Given the description of an element on the screen output the (x, y) to click on. 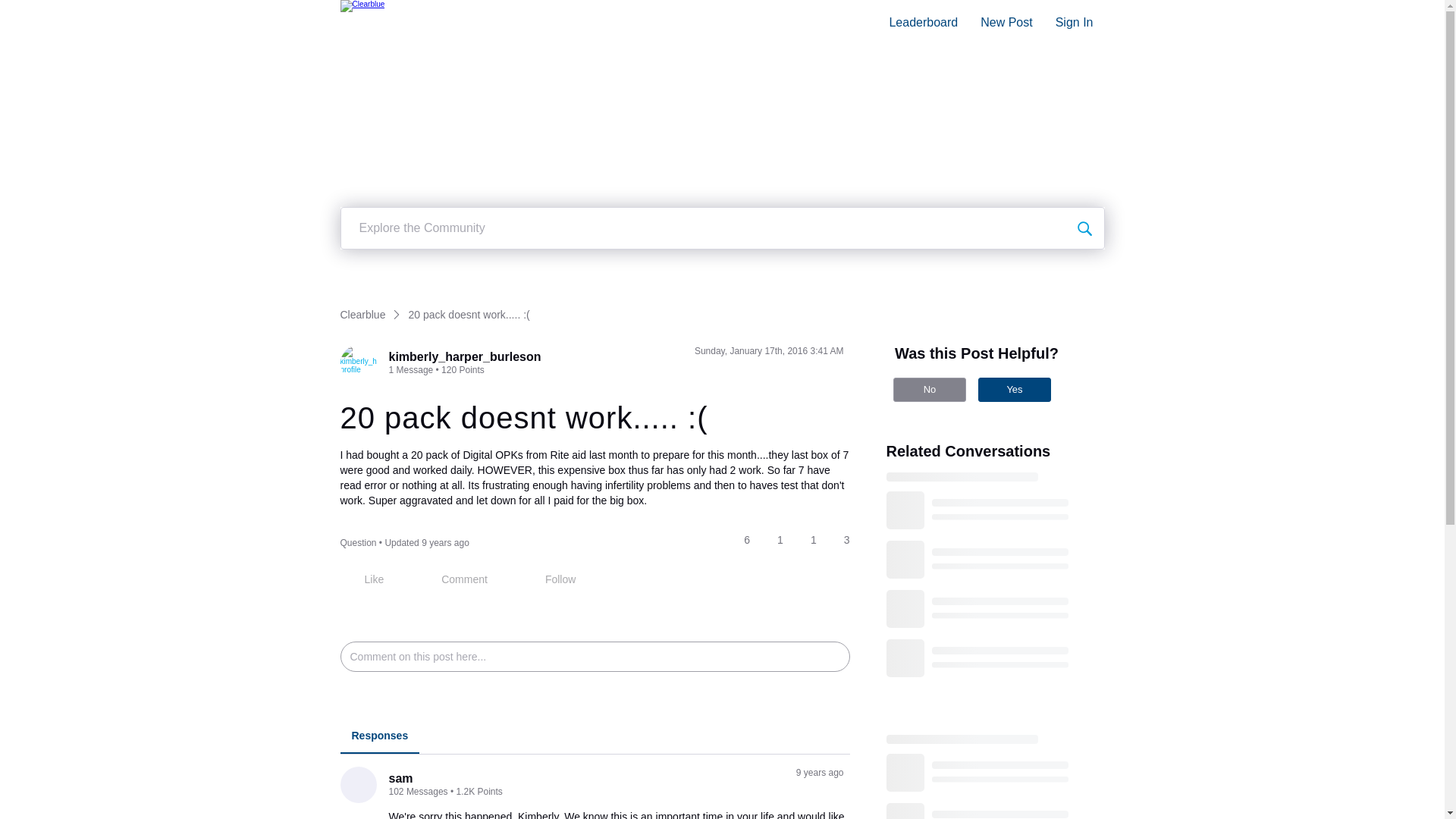
Loading... (991, 776)
No (929, 389)
New Post (1006, 22)
Loading... (991, 578)
Comment (453, 578)
3 (840, 539)
sam (357, 784)
sam (400, 778)
Clearblue (361, 22)
Yes (1014, 389)
